Given the description of an element on the screen output the (x, y) to click on. 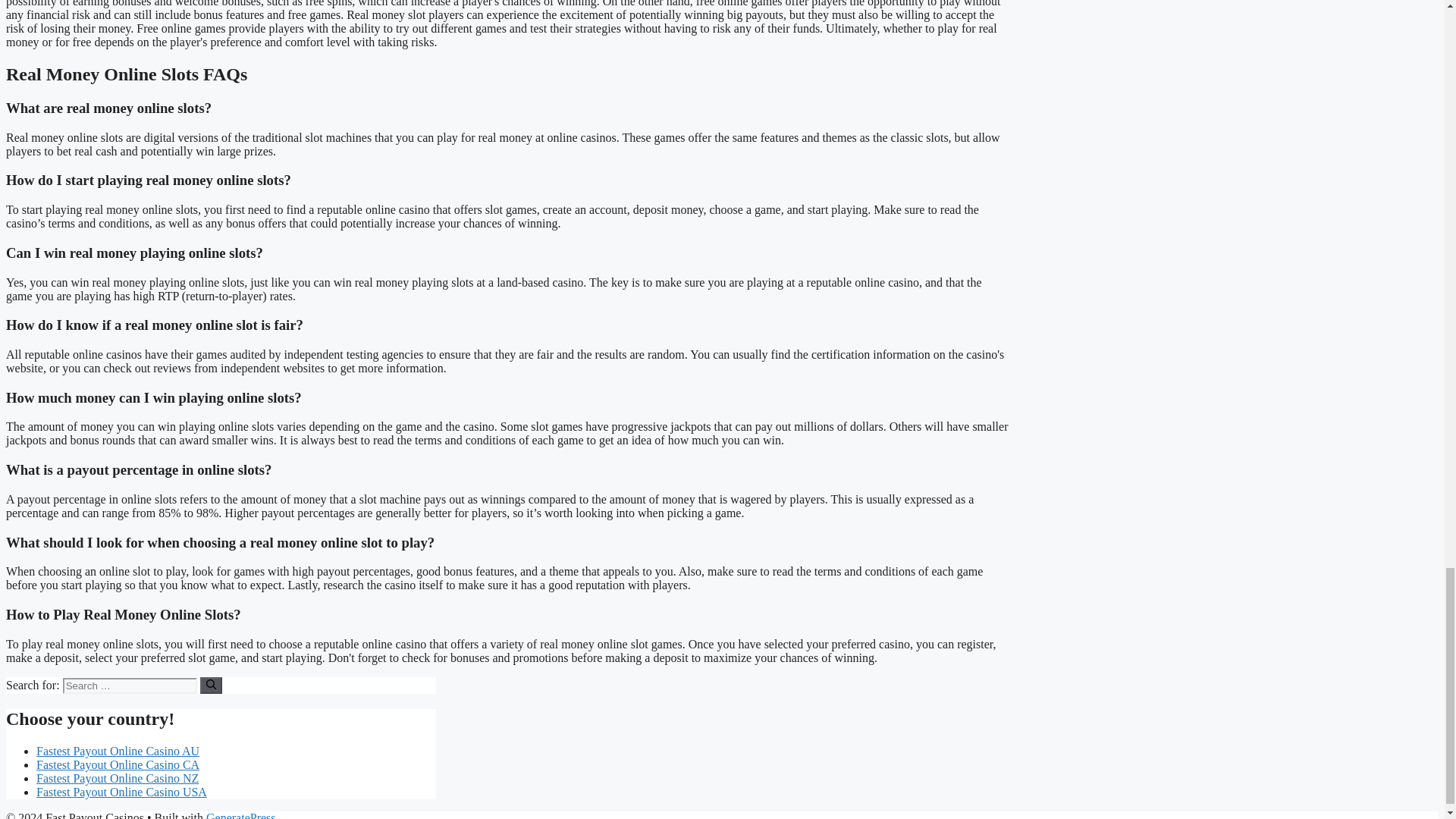
Fastest Payout Online Casino CA (117, 764)
Fastest Payout Online Casino AU (117, 750)
Search for: (129, 685)
